Given the description of an element on the screen output the (x, y) to click on. 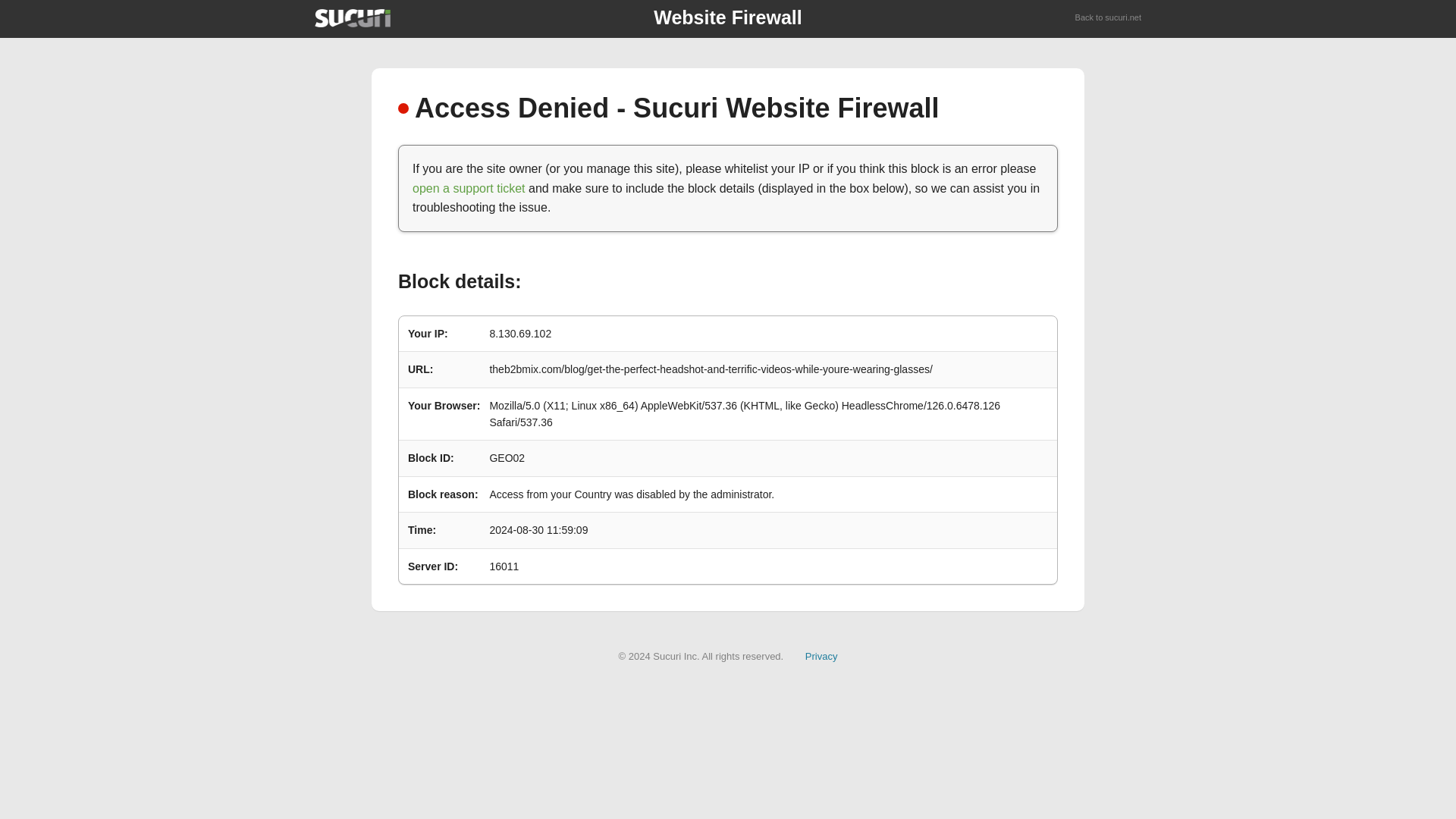
open a support ticket (468, 187)
Privacy (821, 655)
Back to sucuri.net (1108, 18)
